Given the description of an element on the screen output the (x, y) to click on. 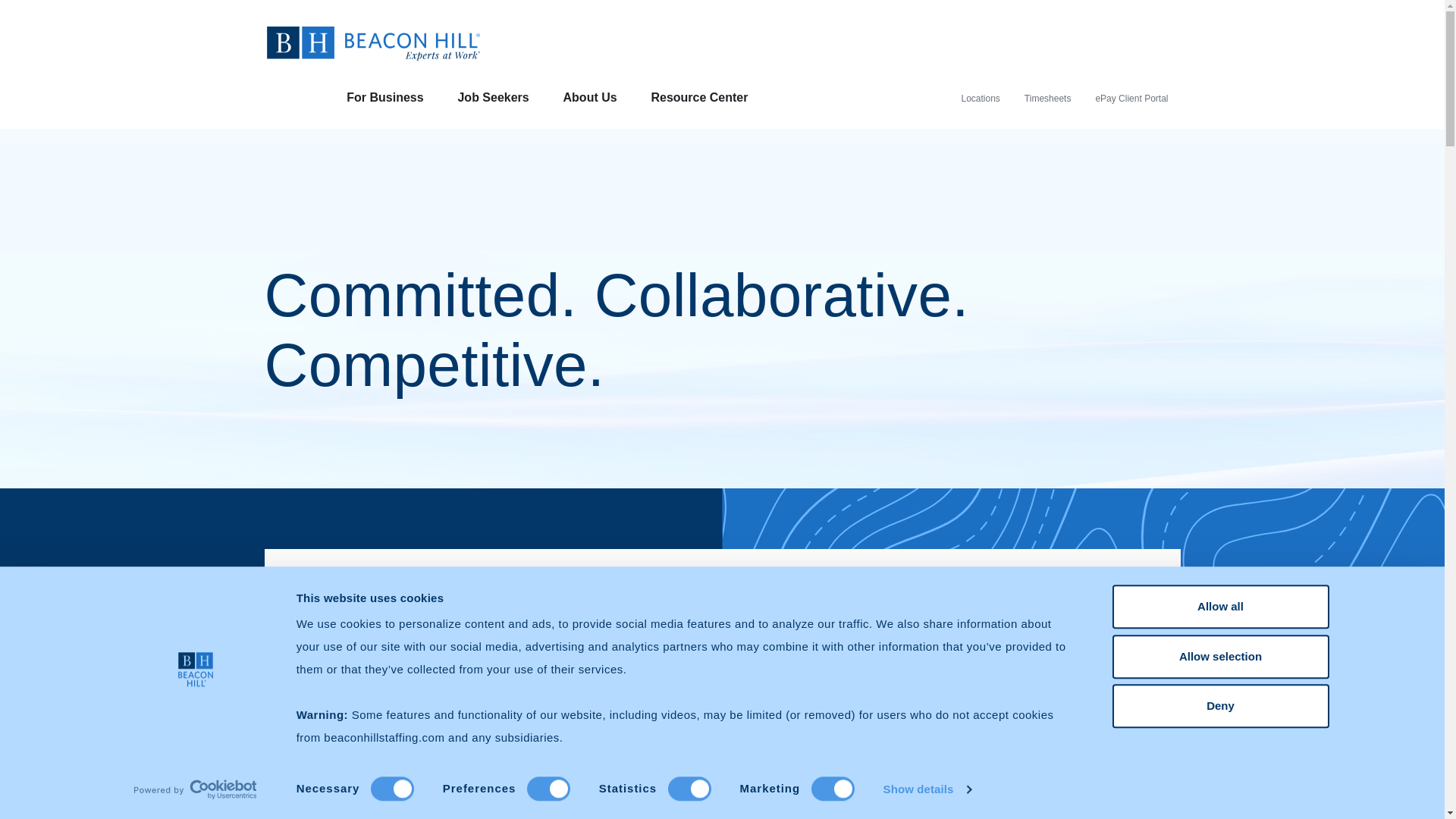
Show details (927, 789)
